Given the description of an element on the screen output the (x, y) to click on. 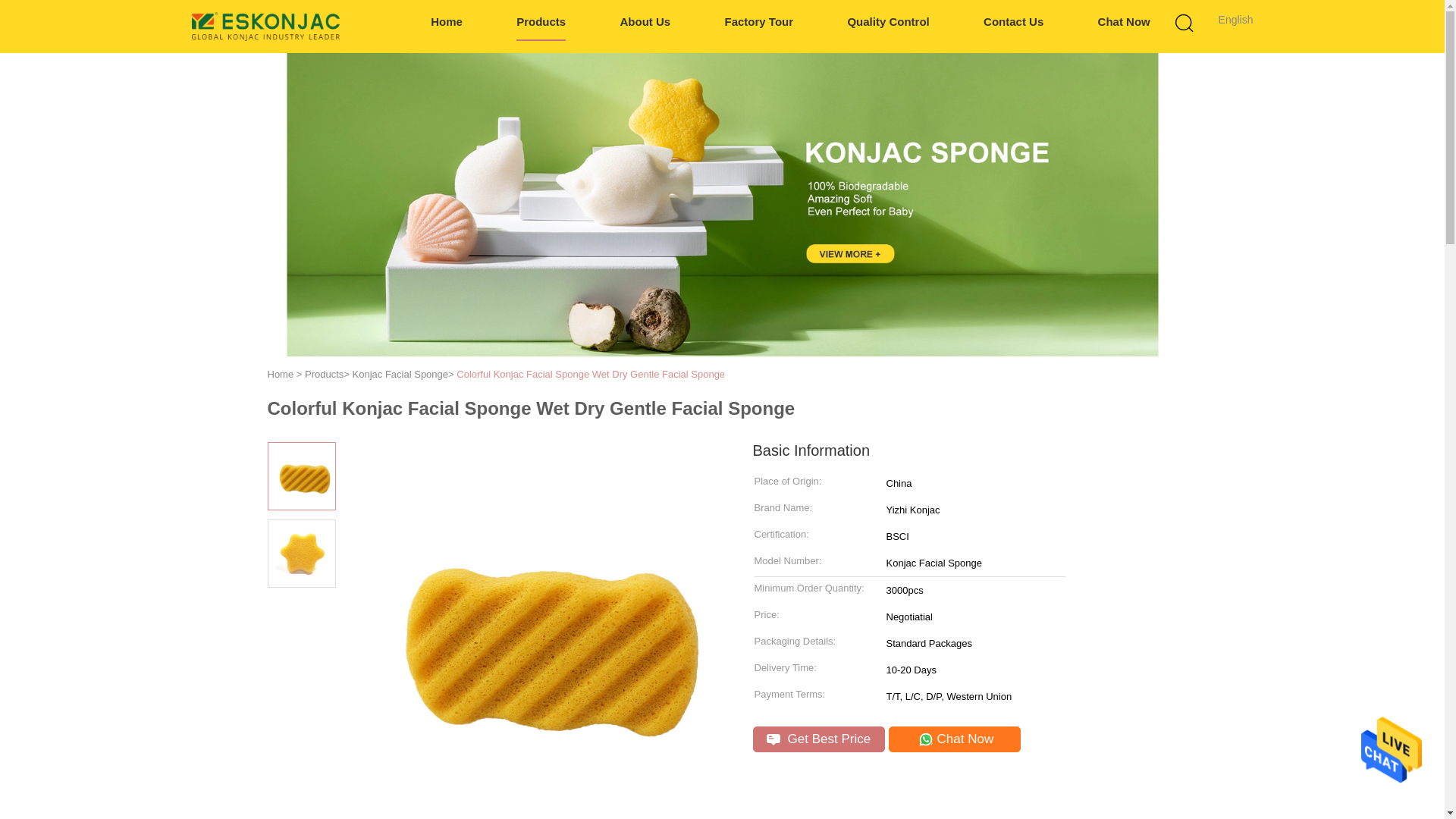
Quality Control (887, 22)
Hubei Yizhi Konjac Biotechnology Co., Ltd (264, 25)
Chat Now (1123, 22)
Factory Tour (759, 22)
About Us (645, 22)
Products (541, 22)
Home (446, 22)
Search (1044, 100)
Contact Us (1013, 22)
